Given the description of an element on the screen output the (x, y) to click on. 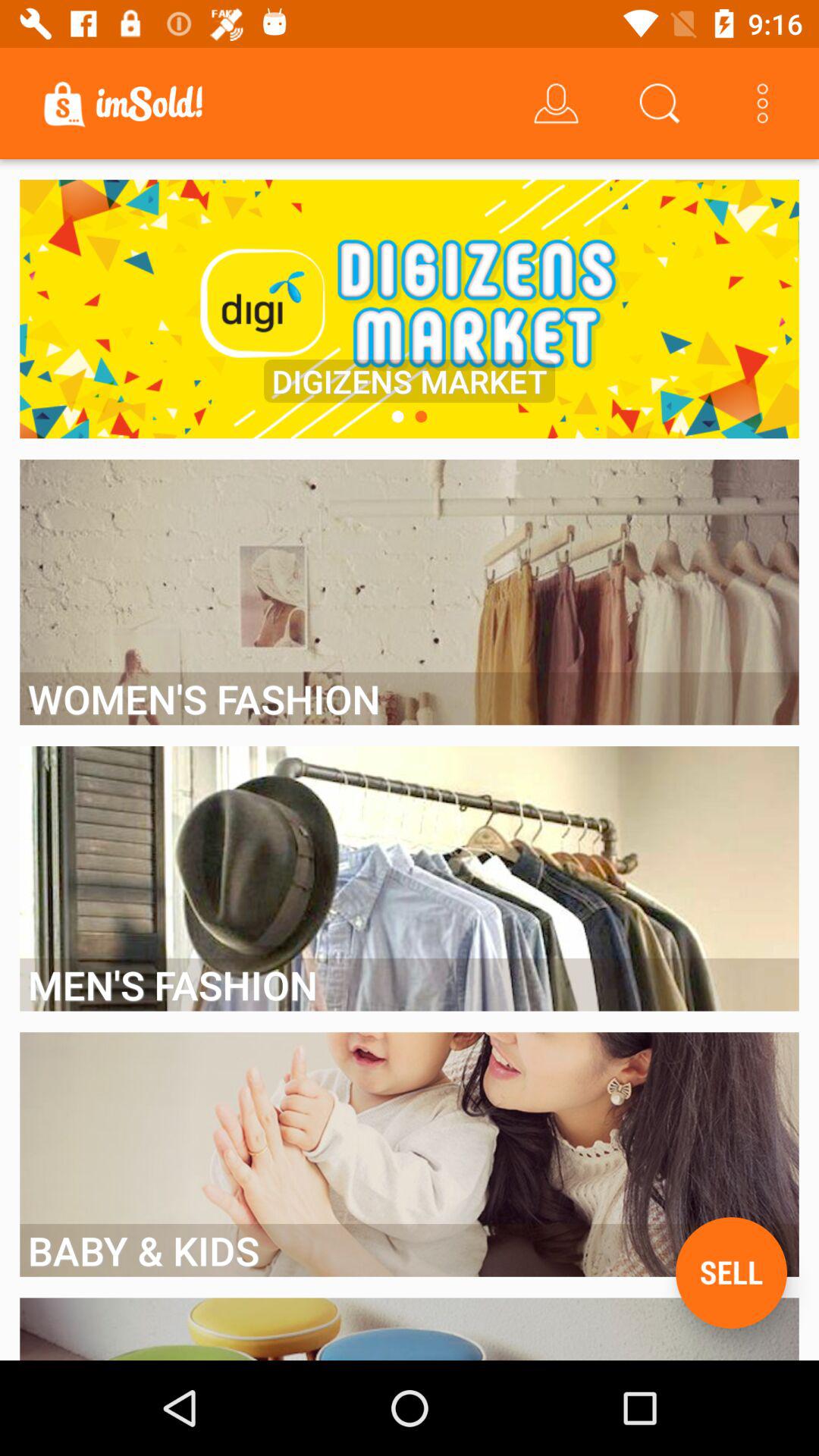
select baby & kids (409, 1249)
